Given the description of an element on the screen output the (x, y) to click on. 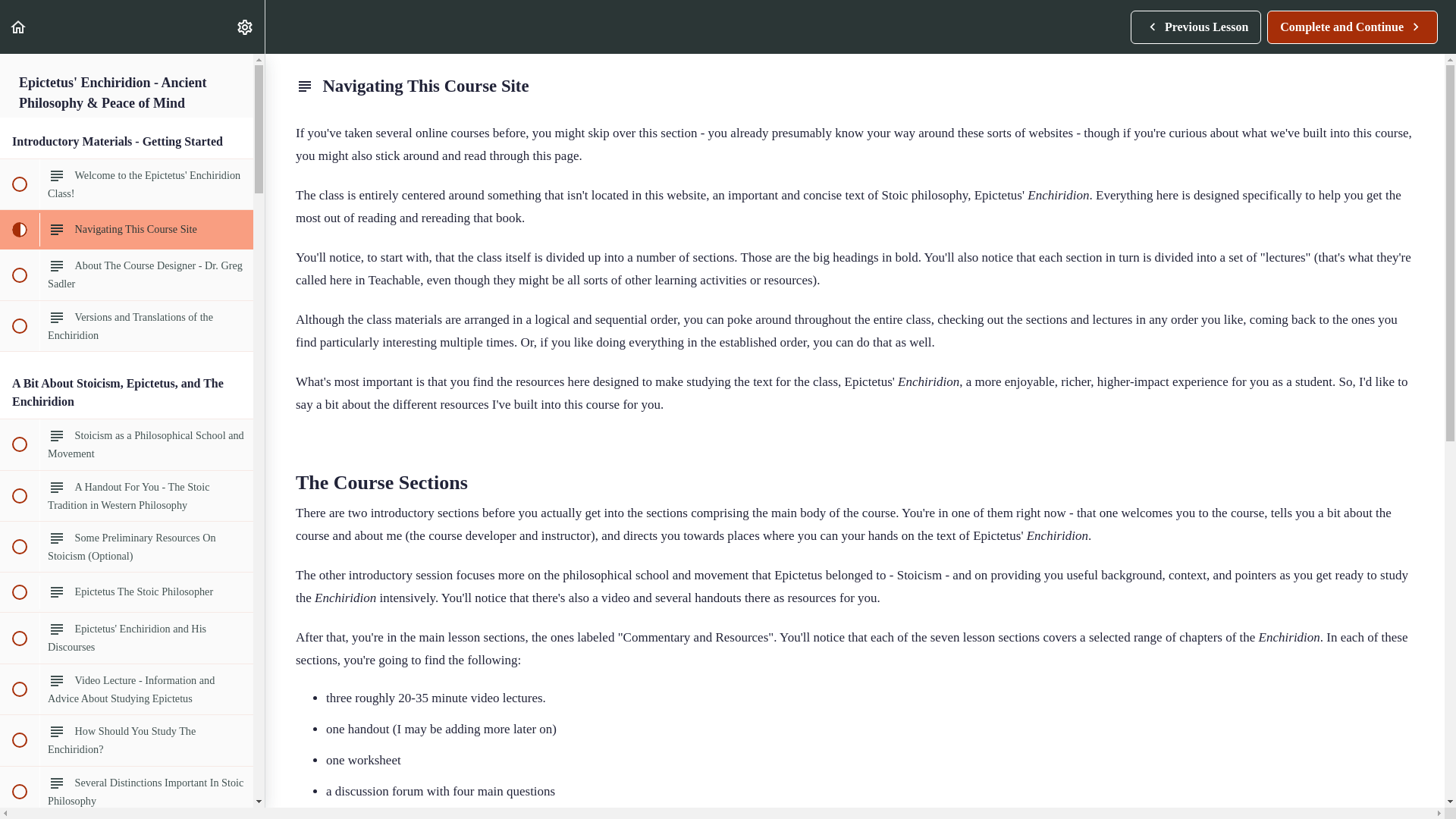
Back to course curriculum (1352, 27)
  Versions and Translations of the Enchiridion (17, 27)
  Stoicism as a Philosophical School and Movement (126, 326)
  Navigating This Course Site (126, 444)
  Previous Lesson (126, 229)
  Several Distinctions Important In Stoic Philosophy (1195, 27)
  Epictetus The Stoic Philosopher (126, 791)
  About The Course Designer - Dr. Greg Sadler (126, 591)
  How Should You Study The Enchiridion? (126, 274)
  Epictetus' Enchiridion and His Discourses (126, 739)
  Welcome to the Epictetus' Enchiridion Class! (126, 637)
Settings Menu (126, 183)
